Given the description of an element on the screen output the (x, y) to click on. 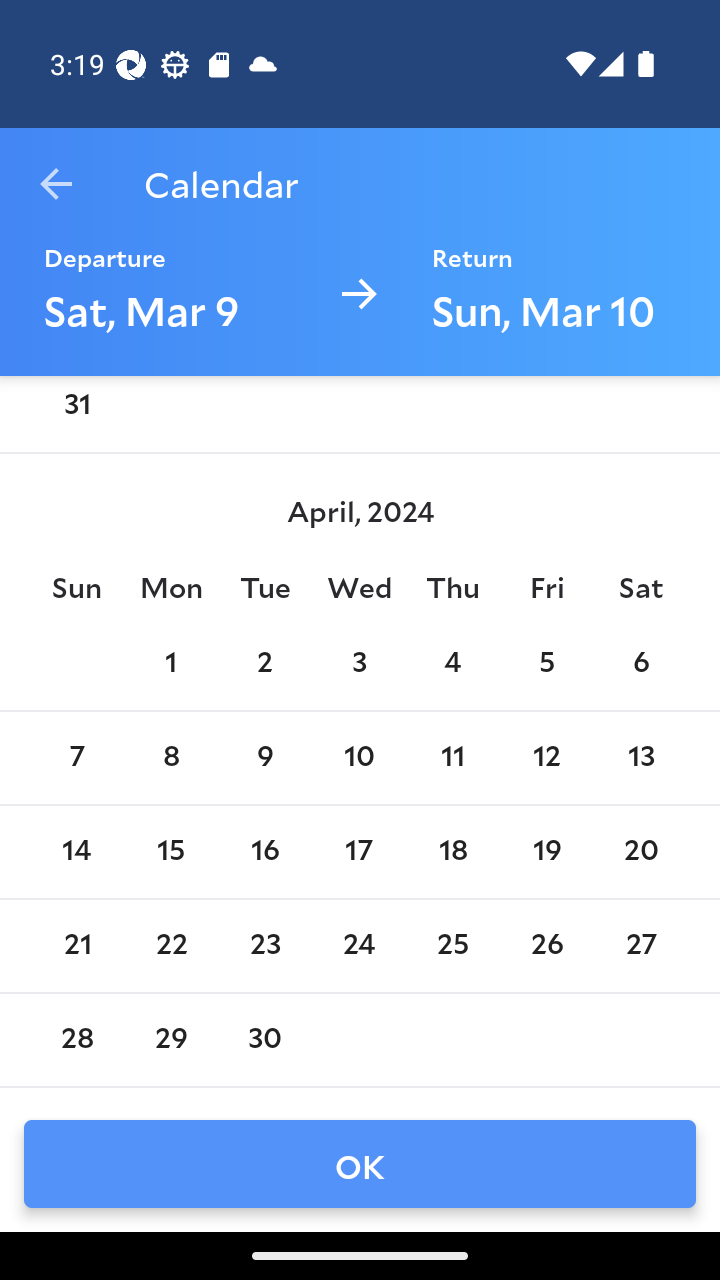
Navigate up (56, 184)
31 (76, 410)
1 (170, 664)
2 (264, 664)
3 (358, 664)
4 (453, 664)
5 (546, 664)
6 (641, 664)
7 (76, 757)
8 (170, 757)
9 (264, 757)
10 (358, 757)
11 (453, 757)
12 (546, 757)
13 (641, 757)
14 (76, 851)
15 (170, 851)
16 (264, 851)
17 (358, 851)
18 (453, 851)
19 (546, 851)
20 (641, 851)
21 (76, 945)
22 (170, 945)
23 (264, 945)
24 (358, 945)
25 (453, 945)
26 (546, 945)
27 (641, 945)
28 (76, 1039)
29 (170, 1039)
30 (264, 1039)
OK (359, 1164)
